Given the description of an element on the screen output the (x, y) to click on. 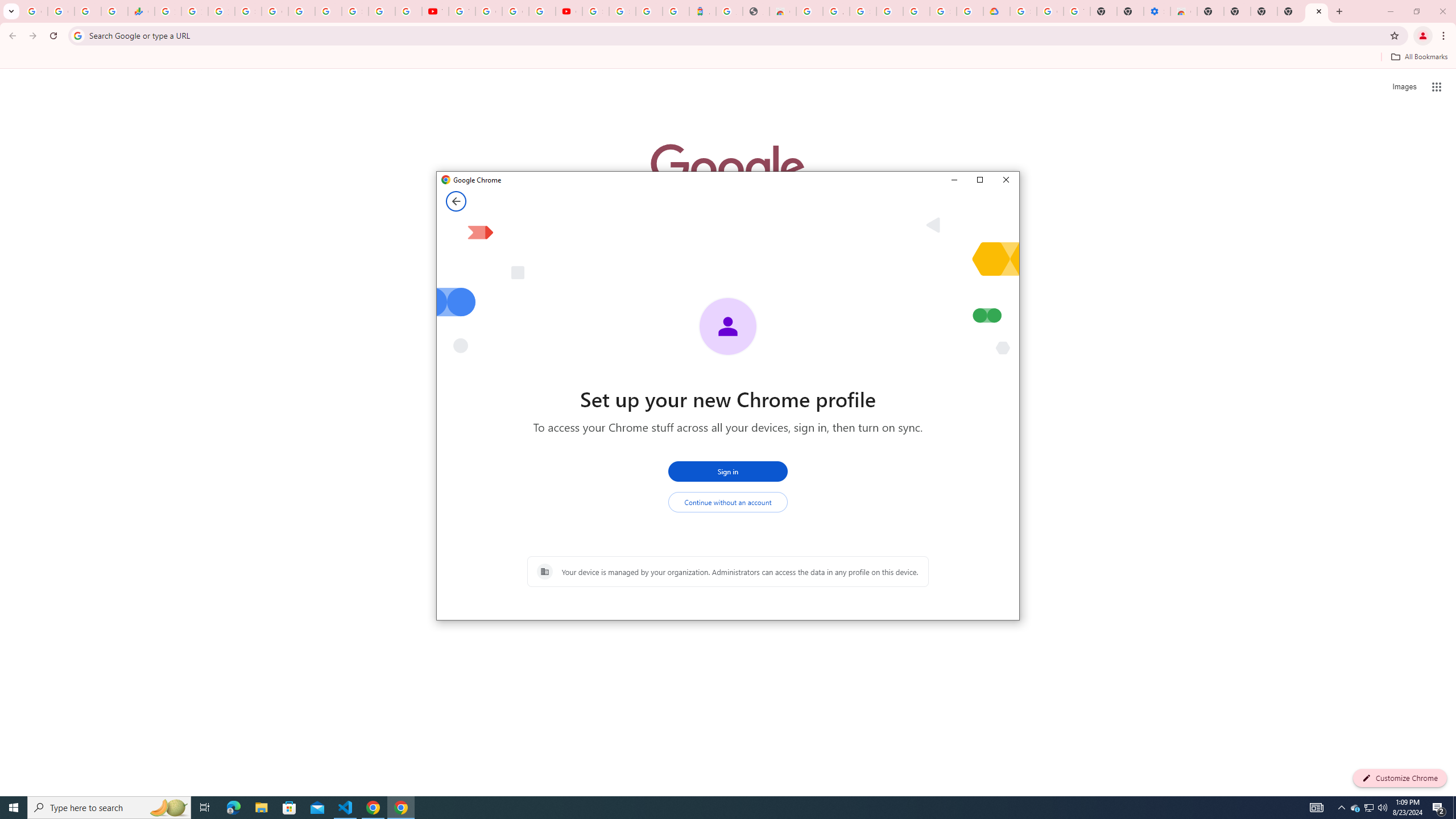
AutomationID: 4105 (1316, 807)
Search highlights icon opens search home window (167, 807)
Settings - Accessibility (1156, 11)
Sign in - Google Accounts (355, 11)
Customize Chrome (1399, 778)
Google Account Help (1050, 11)
Ad Settings (836, 11)
